Given the description of an element on the screen output the (x, y) to click on. 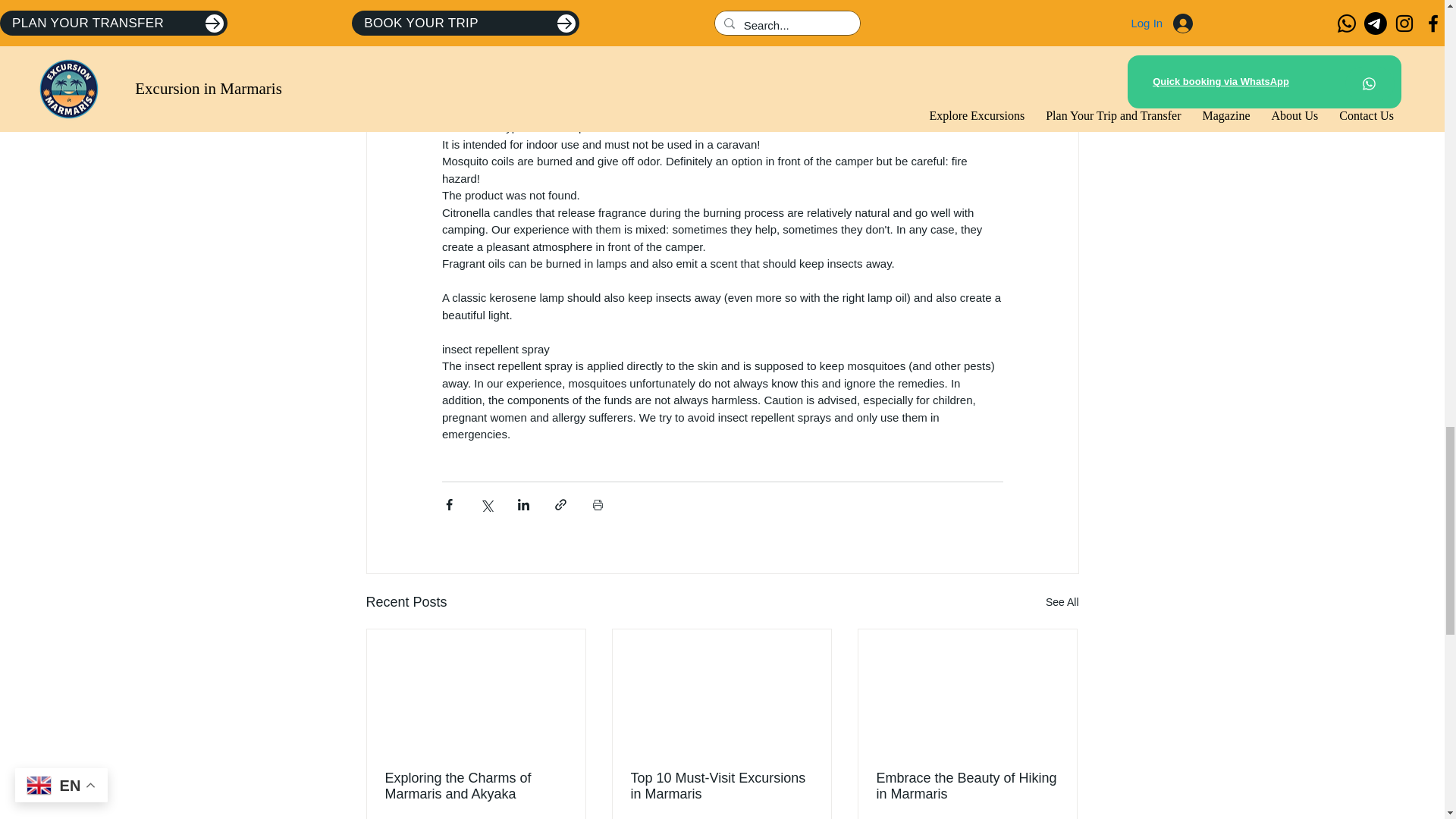
Exploring the Charms of Marmaris and Akyaka (476, 786)
See All (1061, 602)
Top 10 Must-Visit Excursions in Marmaris (721, 786)
Embrace the Beauty of Hiking in Marmaris (967, 786)
